Given the description of an element on the screen output the (x, y) to click on. 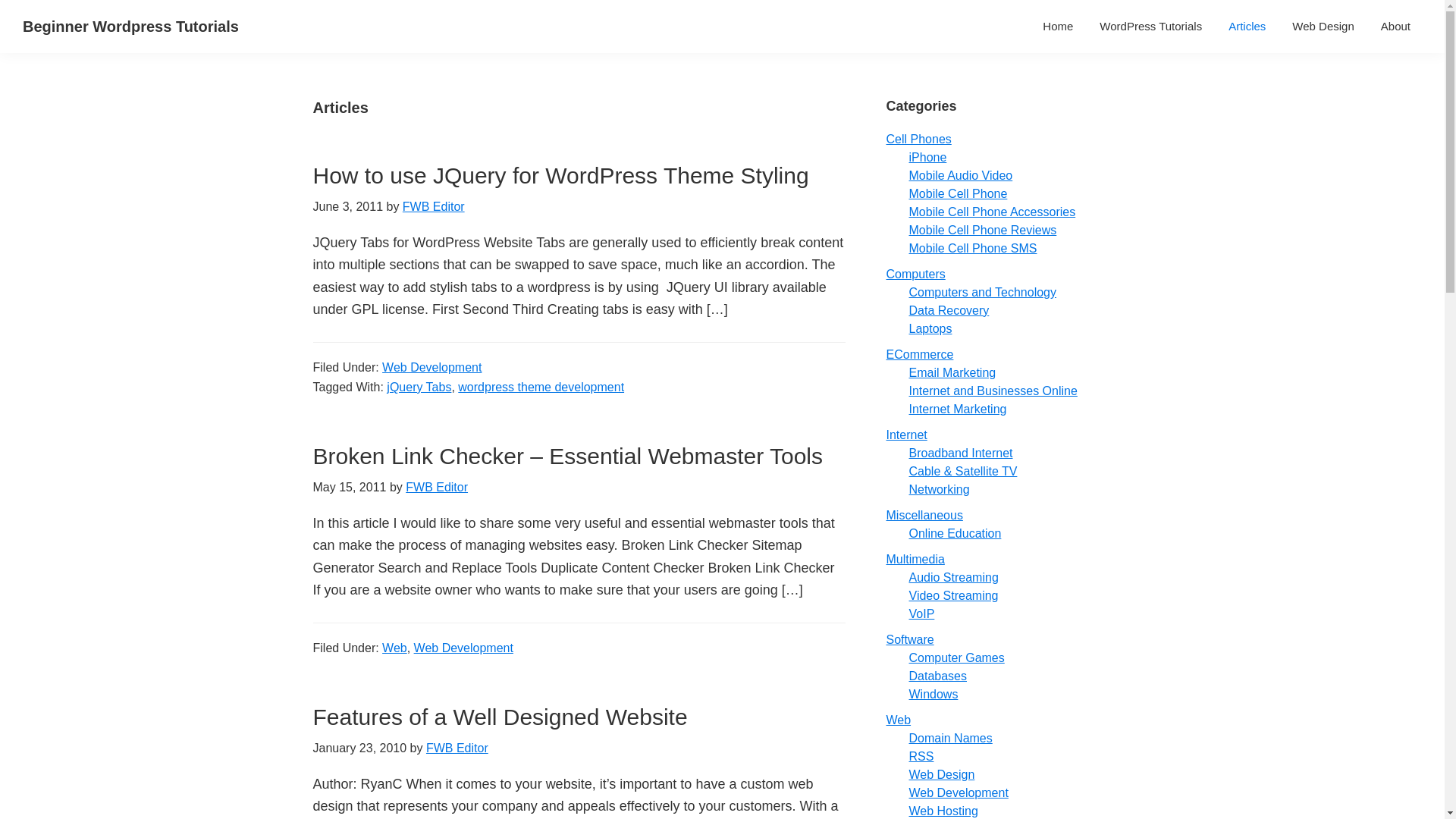
WordPress Tutorials (1149, 25)
About (1396, 25)
FWB Editor (433, 205)
FWB Editor (456, 748)
Web Design (1323, 25)
Home (1057, 25)
Web Development (463, 647)
Web Development (431, 367)
FWB Editor (436, 486)
How to use JQuery for WordPress Theme Styling (560, 175)
